Given the description of an element on the screen output the (x, y) to click on. 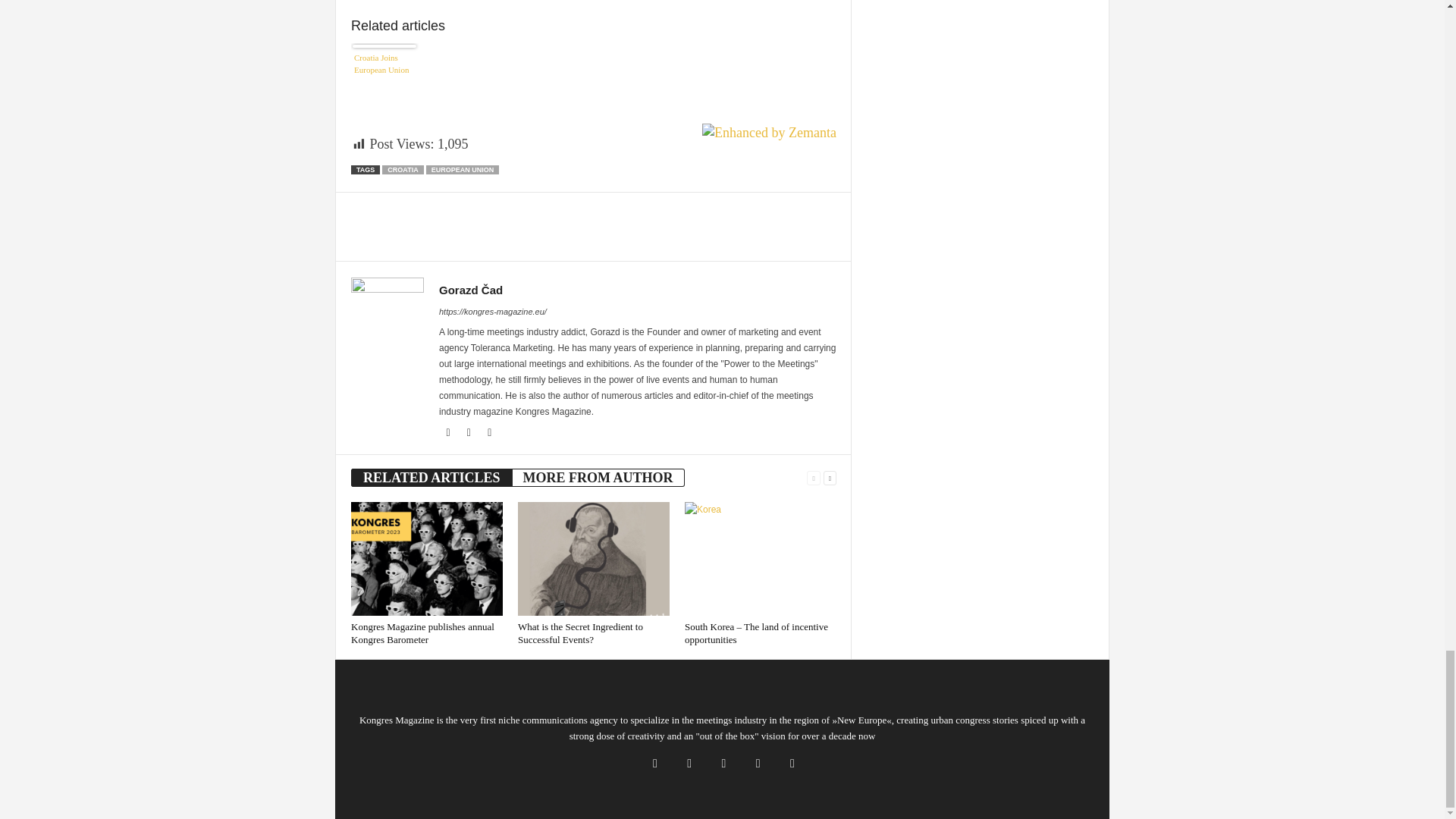
Linkedin (470, 432)
Facebook (449, 432)
